Given the description of an element on the screen output the (x, y) to click on. 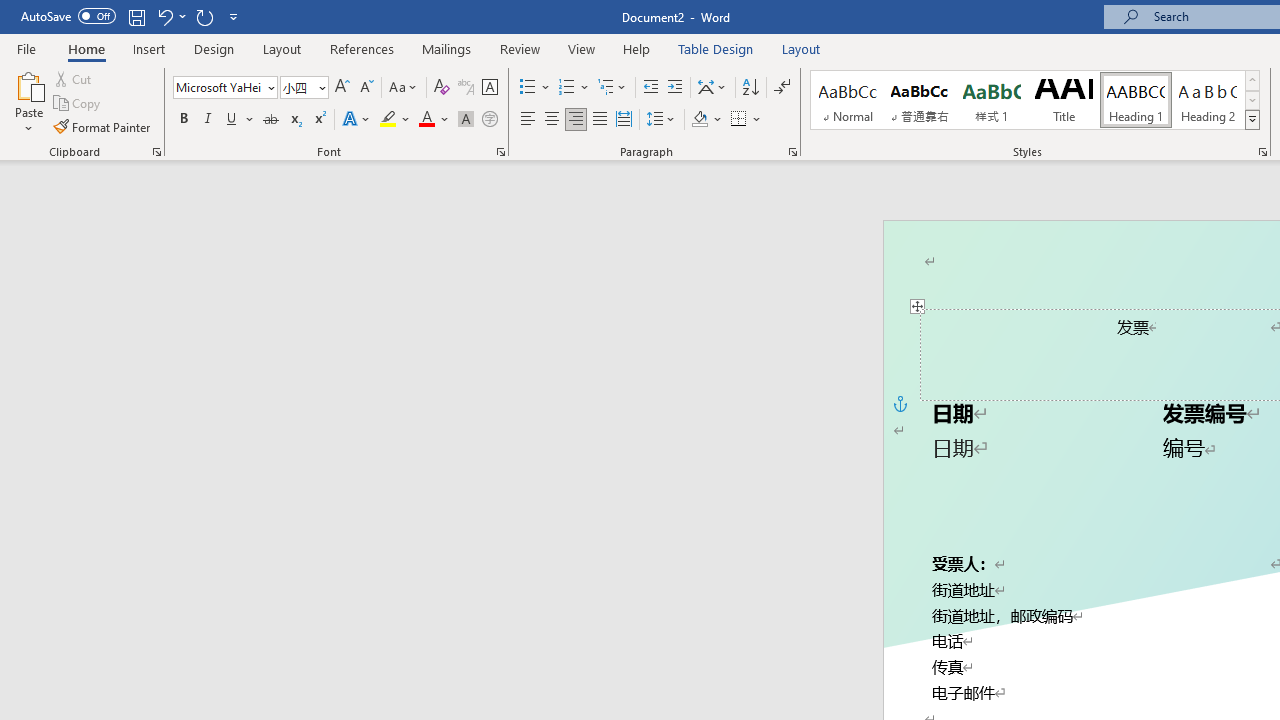
Font... (500, 151)
Distributed (623, 119)
Center (552, 119)
Styles... (1262, 151)
Text Highlight Color (395, 119)
Sort... (750, 87)
Increase Indent (675, 87)
Decrease Indent (650, 87)
Shading (706, 119)
Text Highlight Color Yellow (388, 119)
Format Painter (103, 126)
